Given the description of an element on the screen output the (x, y) to click on. 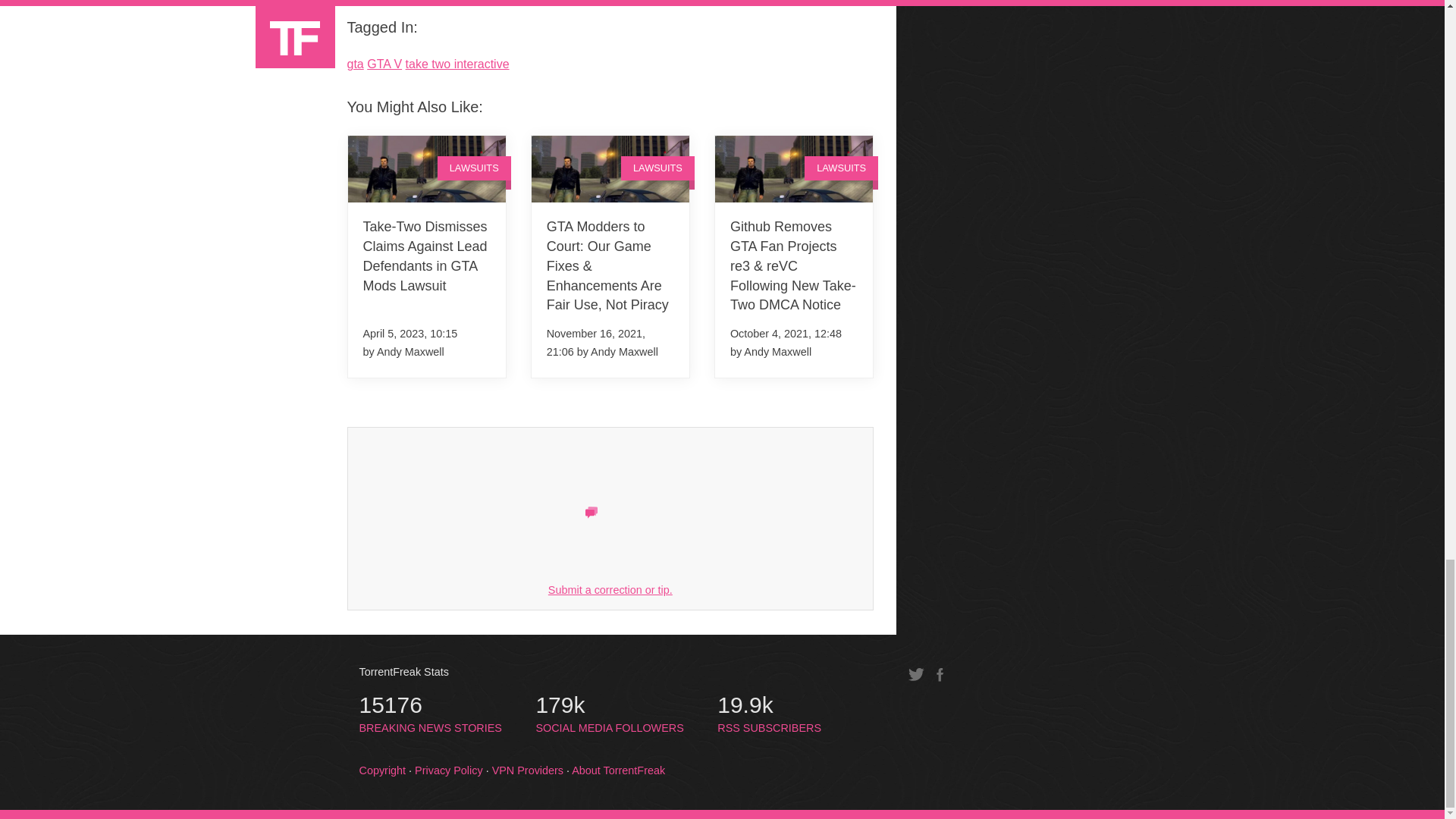
gta (355, 63)
GTA V (383, 63)
take two interactive (457, 63)
Submit a correction or tip. (610, 589)
